Given the description of an element on the screen output the (x, y) to click on. 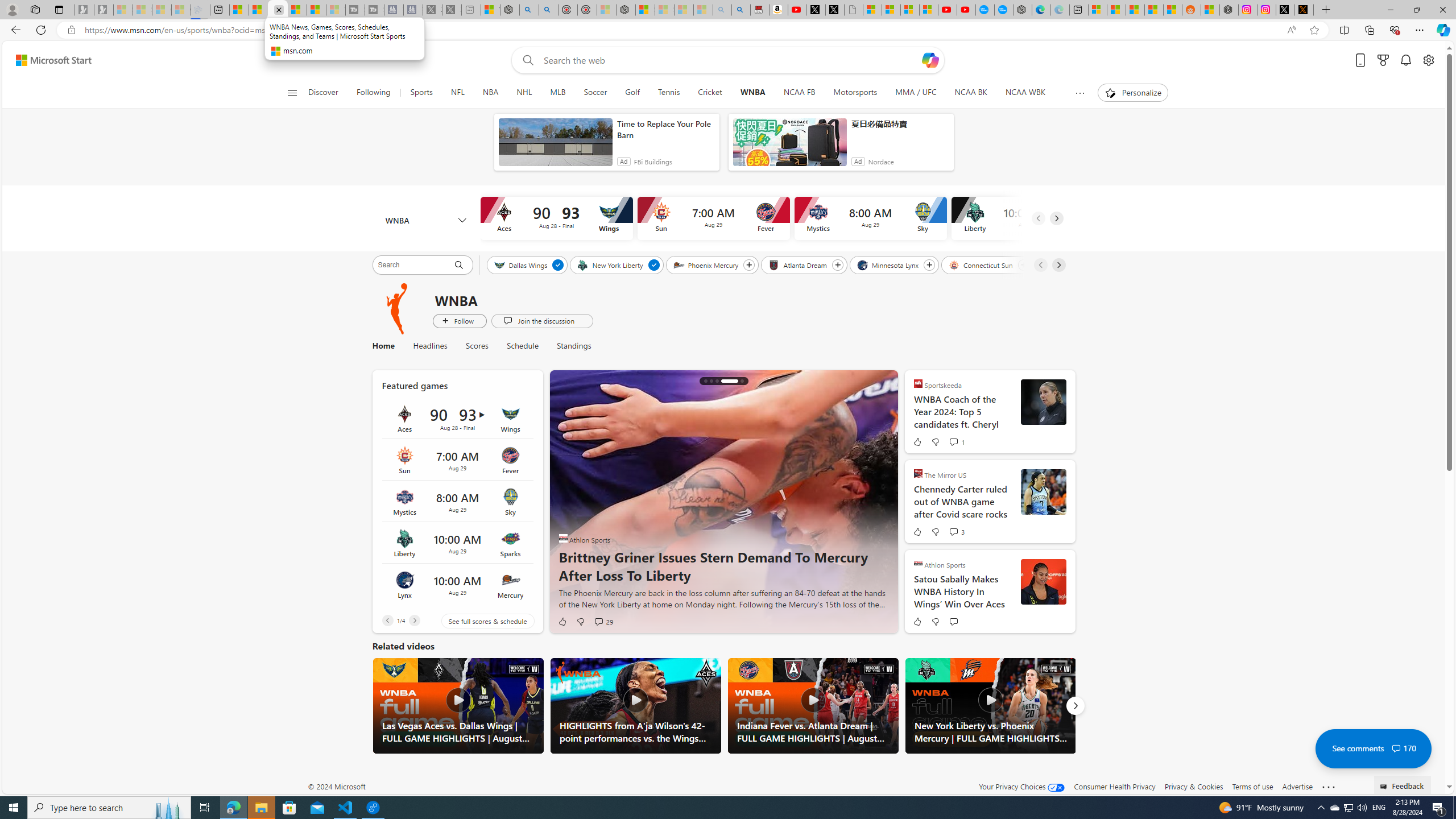
View comments 29 Comment (598, 621)
Home (387, 345)
Terms of use (1252, 785)
NCAA BK (970, 92)
Show more topics (1079, 92)
Liberty vs Sparks Time 10:00 AM Date Aug 29 (456, 543)
Follow Connecticut Sun (1023, 265)
